Given the description of an element on the screen output the (x, y) to click on. 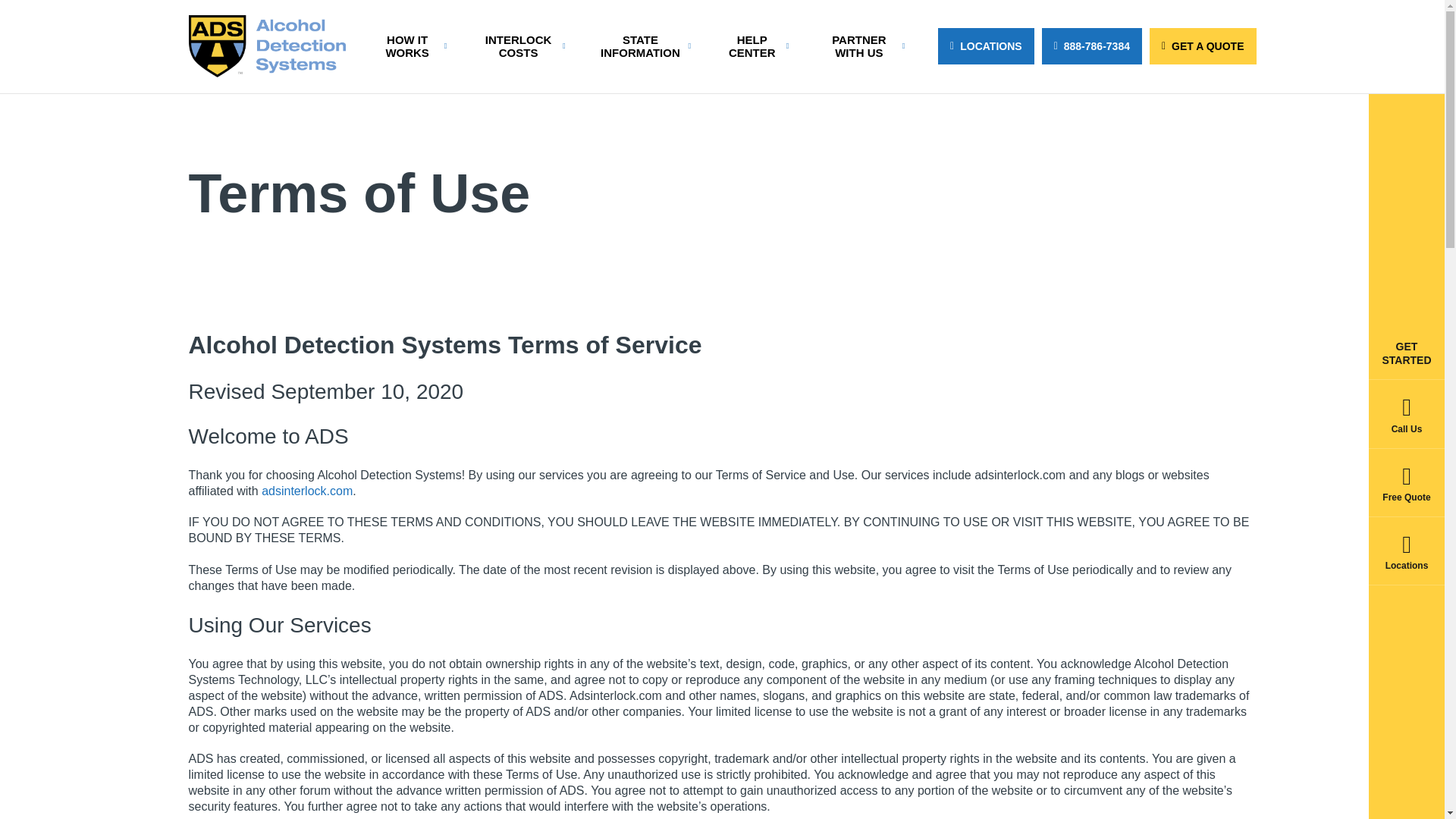
LOCATIONS (985, 45)
HOW IT WORKS (412, 45)
HELP CENTER (757, 45)
GET A QUOTE (1203, 45)
INTERLOCK COSTS (523, 45)
STATE INFORMATION (645, 45)
ADSInterlock (307, 490)
PARTNER WITH US (864, 45)
888-786-7384 (1091, 45)
